Given the description of an element on the screen output the (x, y) to click on. 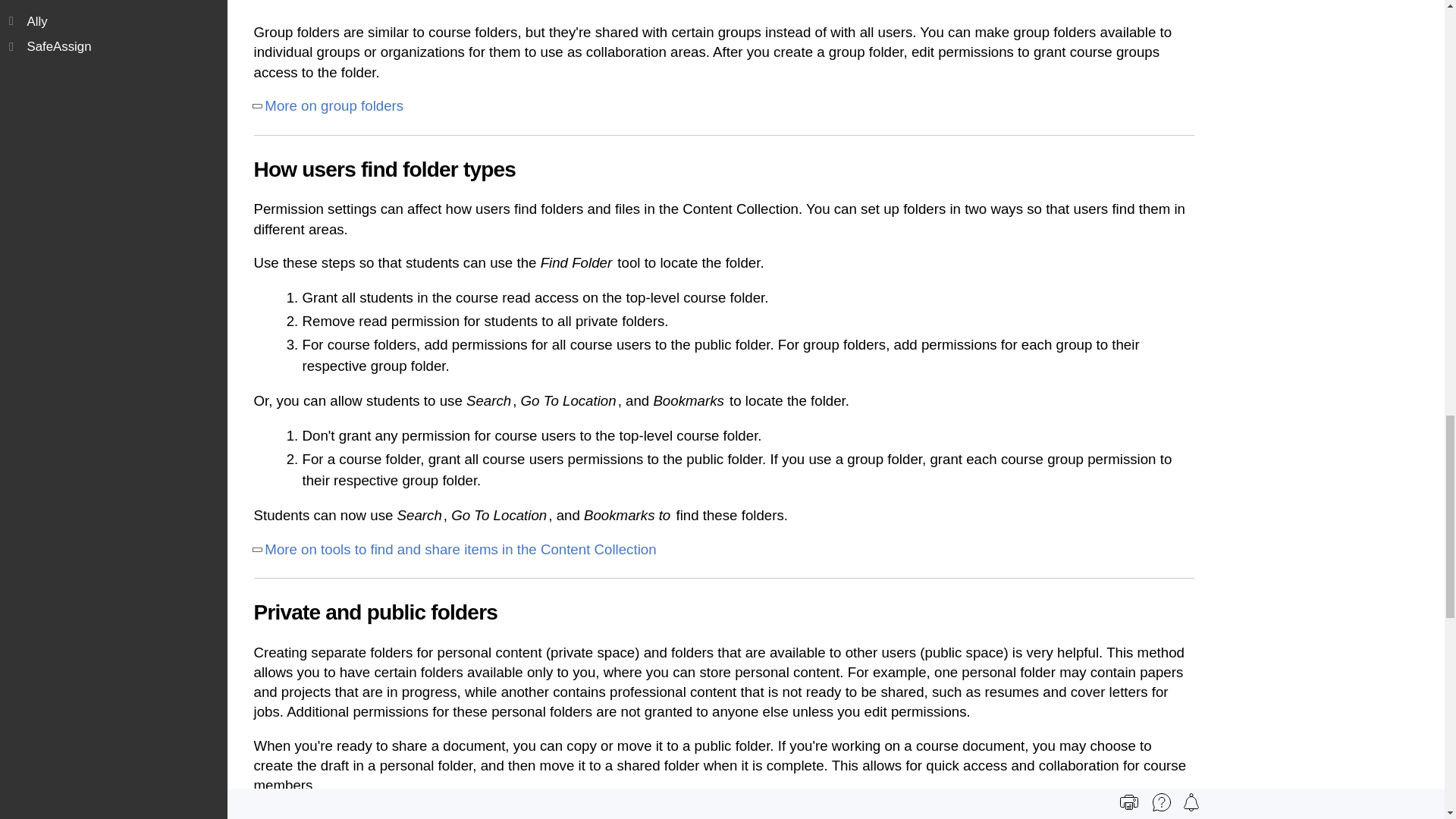
More on group folders (333, 105)
